Given the description of an element on the screen output the (x, y) to click on. 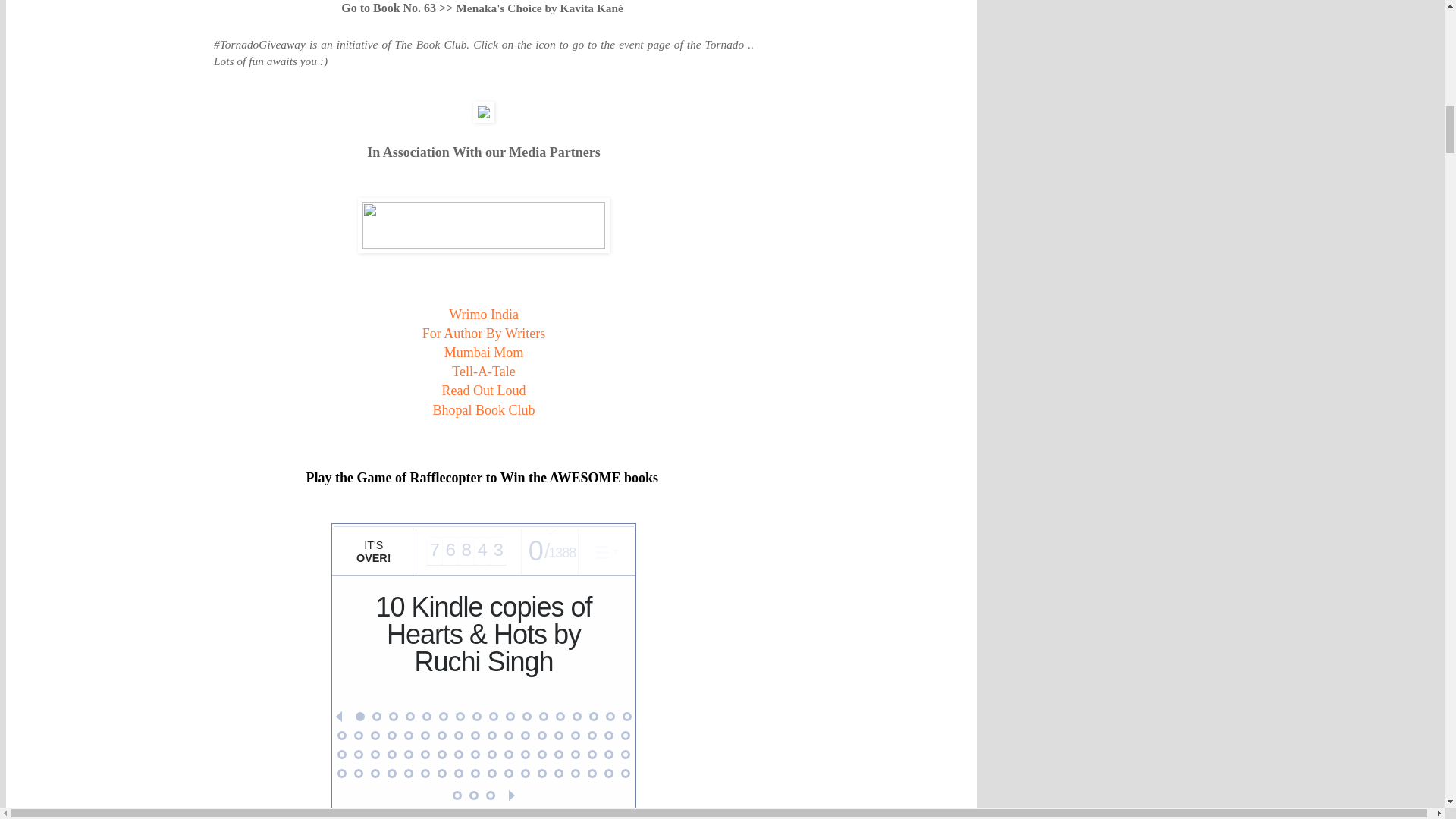
Tell-A-Tale (483, 371)
Wrimo India (483, 314)
Bhopal Book Club (483, 409)
Read Out Loud (483, 390)
Mumbai Mom (484, 352)
For Author By Writers (483, 333)
